Given the description of an element on the screen output the (x, y) to click on. 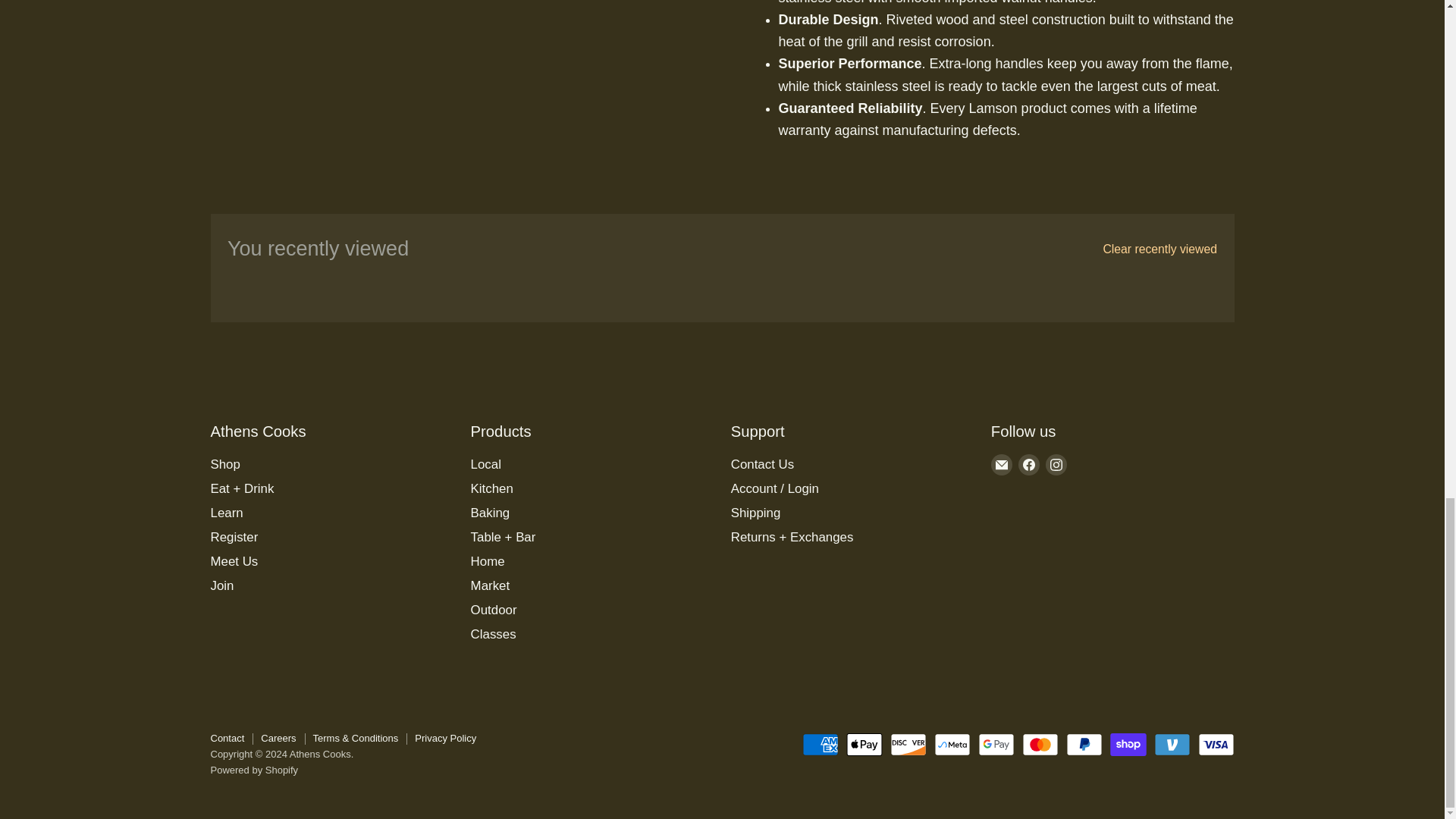
Email (1001, 464)
Meta Pay (952, 744)
Apple Pay (863, 744)
Discover (907, 744)
Facebook (1028, 464)
American Express (820, 744)
Mastercard (1040, 744)
Google Pay (996, 744)
Instagram (1056, 464)
